Given the description of an element on the screen output the (x, y) to click on. 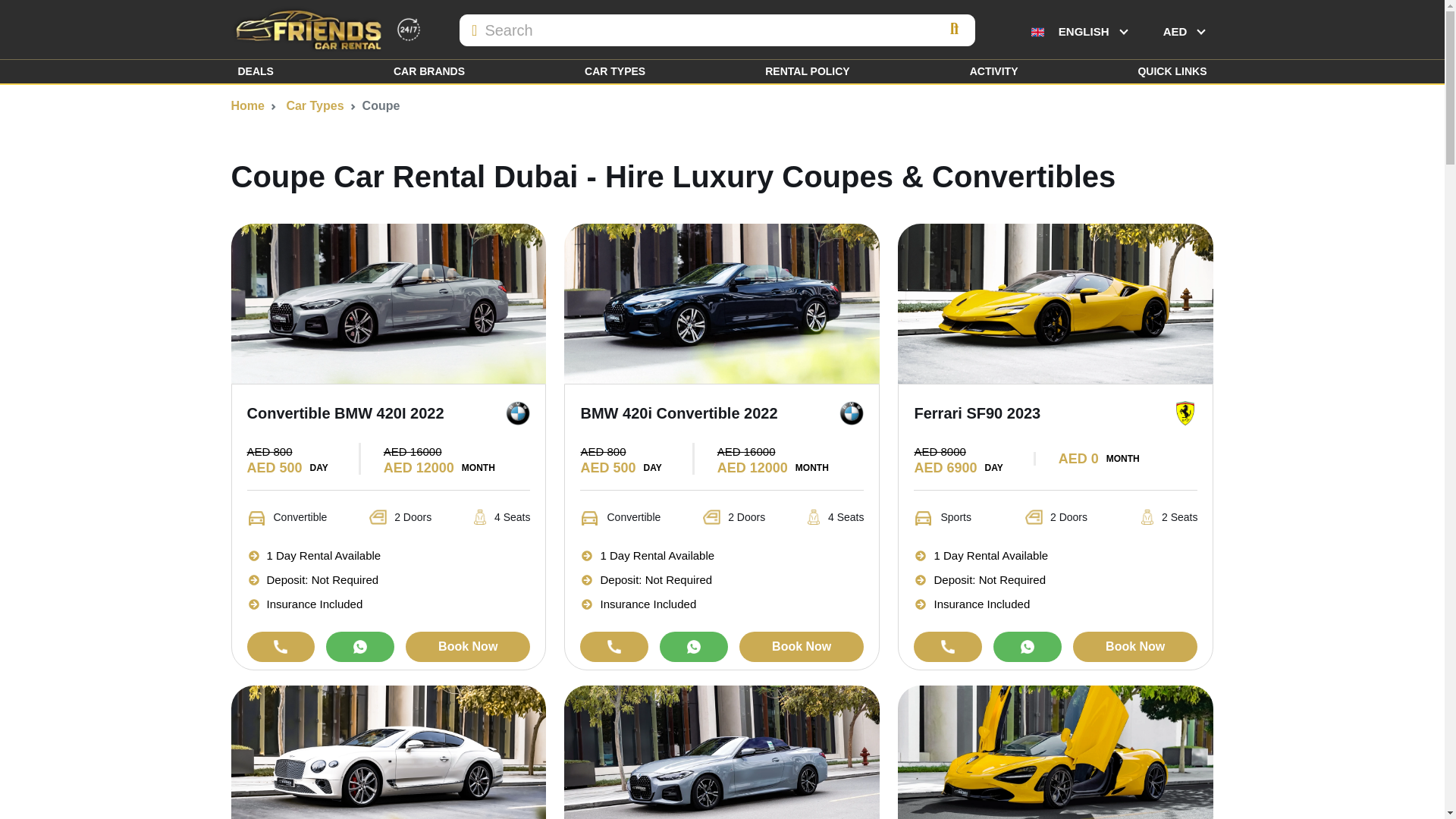
DEALS (255, 71)
CAR BRANDS (428, 71)
ENGLISH (1078, 29)
AED (1184, 29)
